Given the description of an element on the screen output the (x, y) to click on. 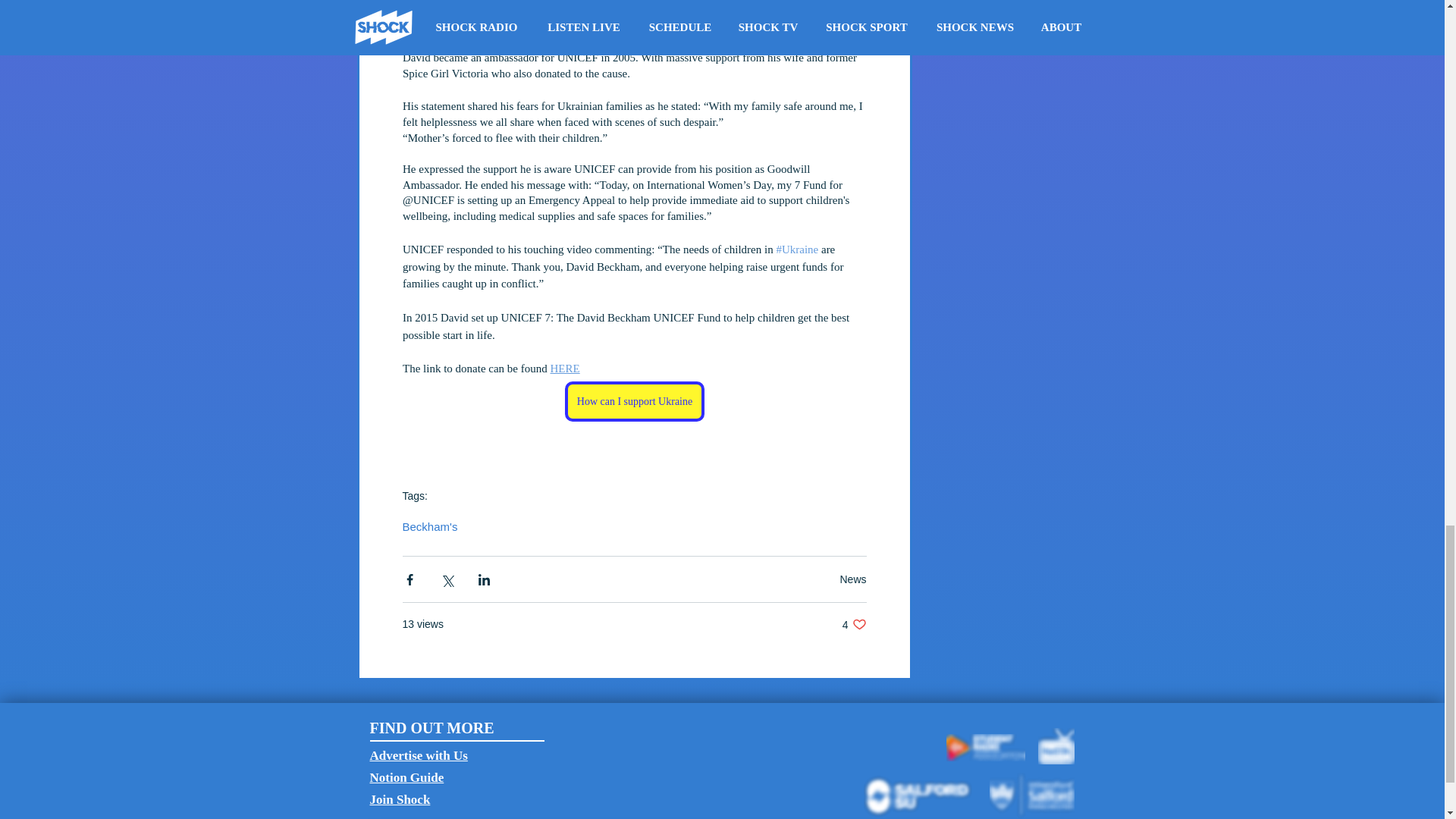
HERE (564, 368)
Beckham's (429, 526)
News (853, 579)
How can I support Ukraine (633, 401)
Advertise with Us (418, 755)
Notion Guide (854, 624)
